Given the description of an element on the screen output the (x, y) to click on. 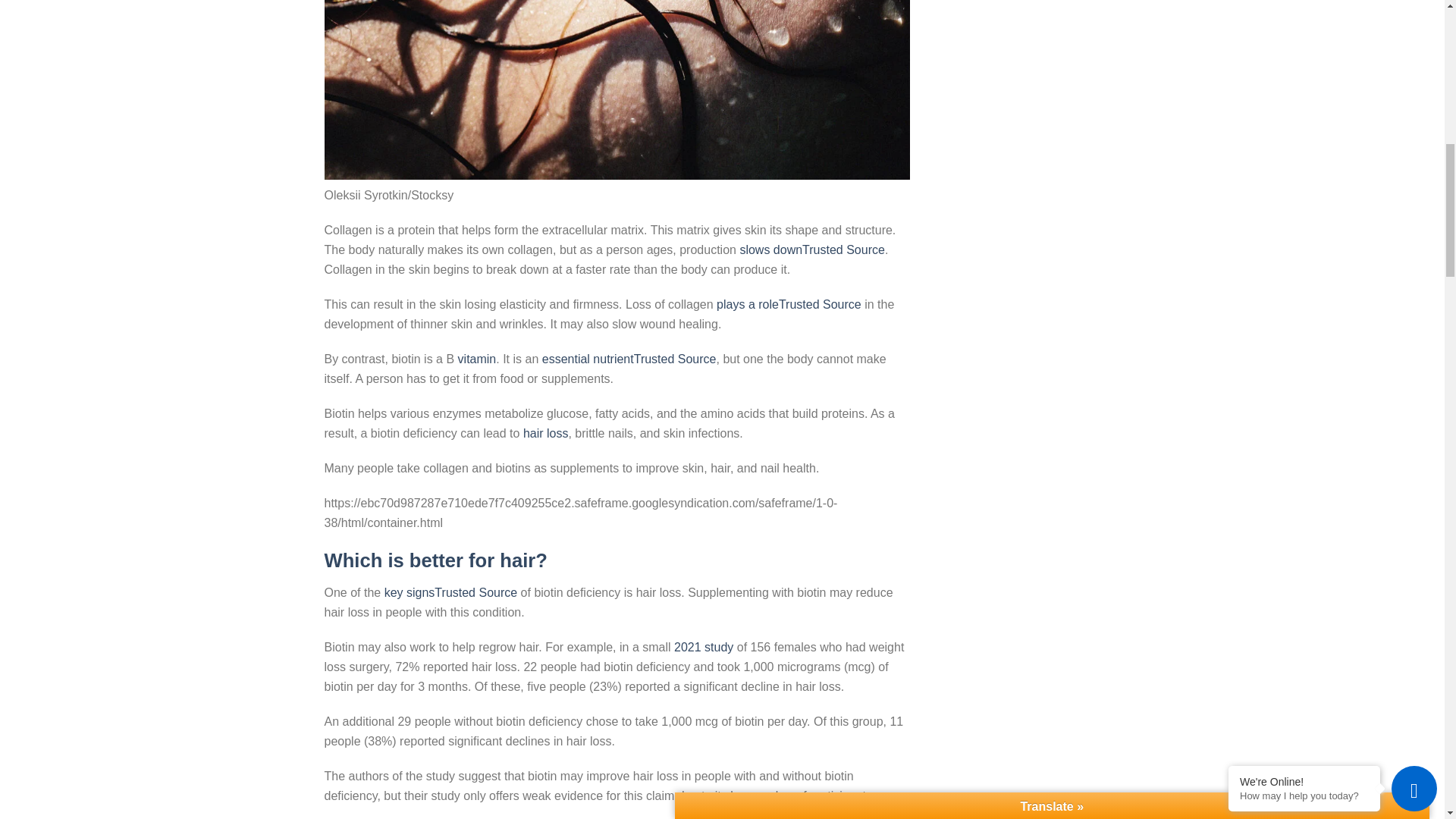
Which is better for hair? (435, 559)
essential nutrientTrusted Source (628, 358)
plays a roleTrusted Source (788, 304)
vitamin (477, 358)
hair loss (545, 432)
slows downTrusted Source (812, 249)
